Given the description of an element on the screen output the (x, y) to click on. 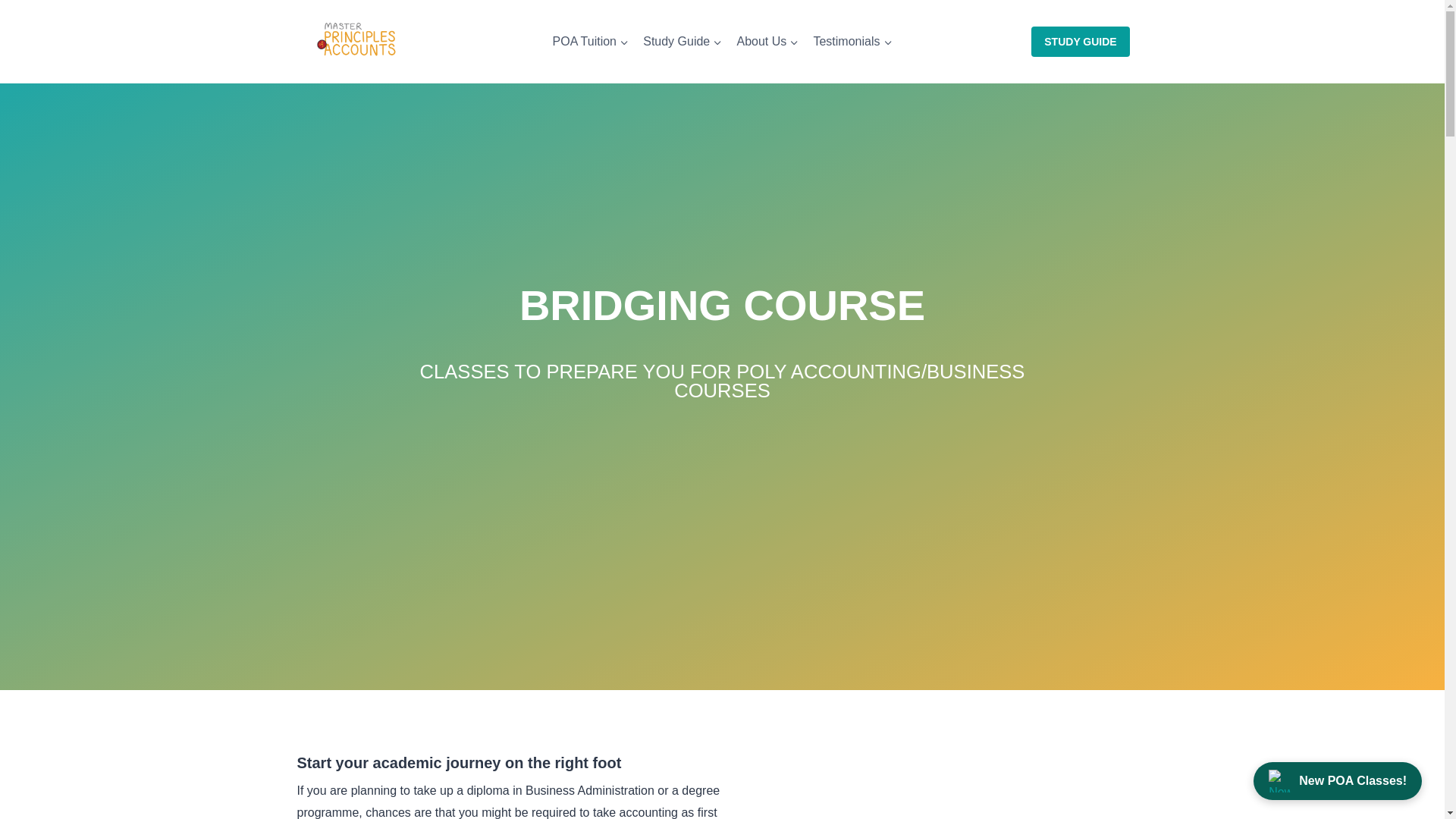
POA Tuition (590, 41)
About Us (767, 41)
Testimonials (852, 41)
STUDY GUIDE (1079, 41)
Study Guide (682, 41)
